Given the description of an element on the screen output the (x, y) to click on. 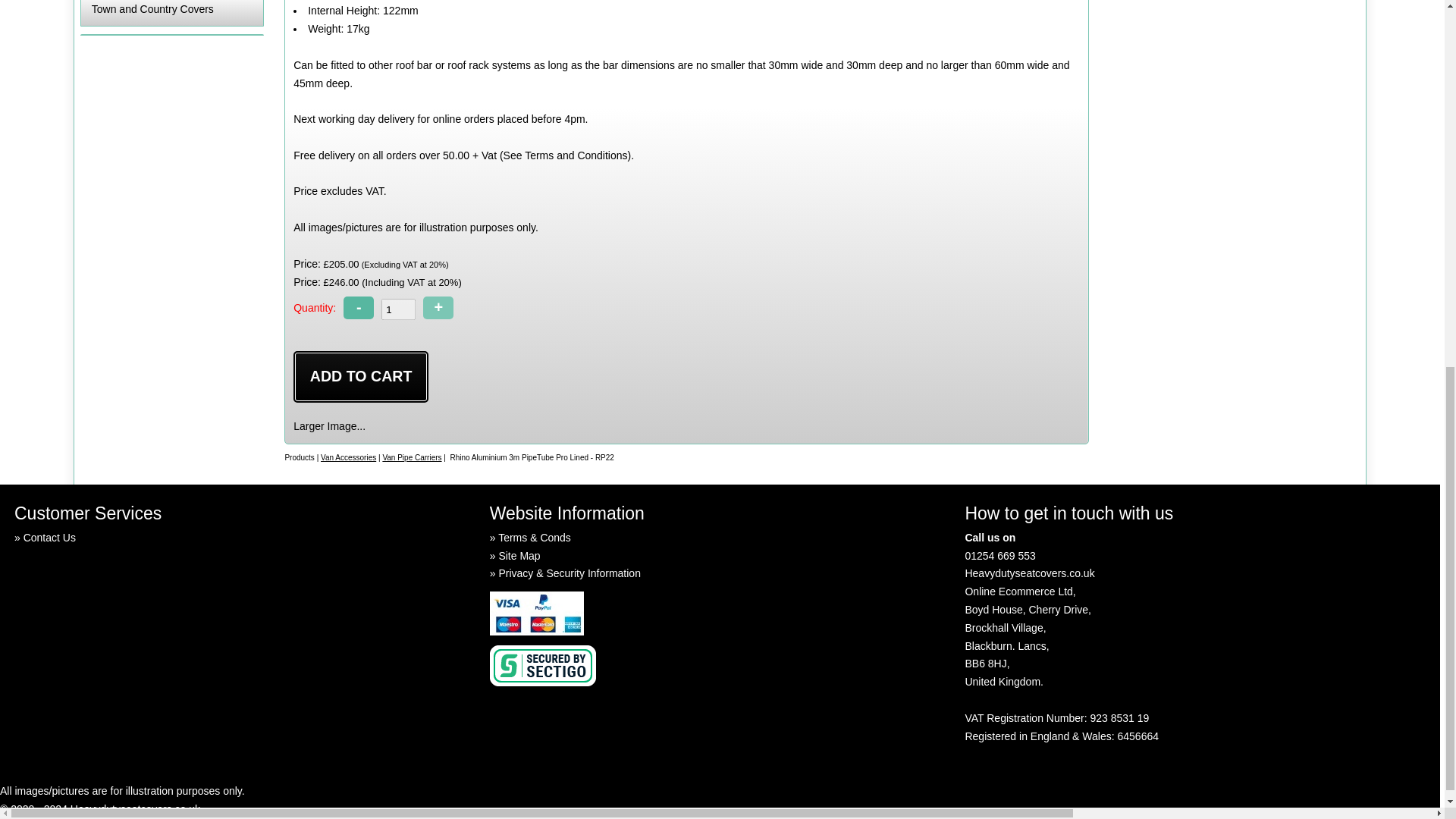
Products (298, 457)
- (358, 307)
Add To Cart (361, 377)
Add To Cart (361, 377)
Van Accessories (347, 457)
1 (397, 309)
Van Pipe Carriers (411, 457)
Larger Image... (329, 426)
